Given the description of an element on the screen output the (x, y) to click on. 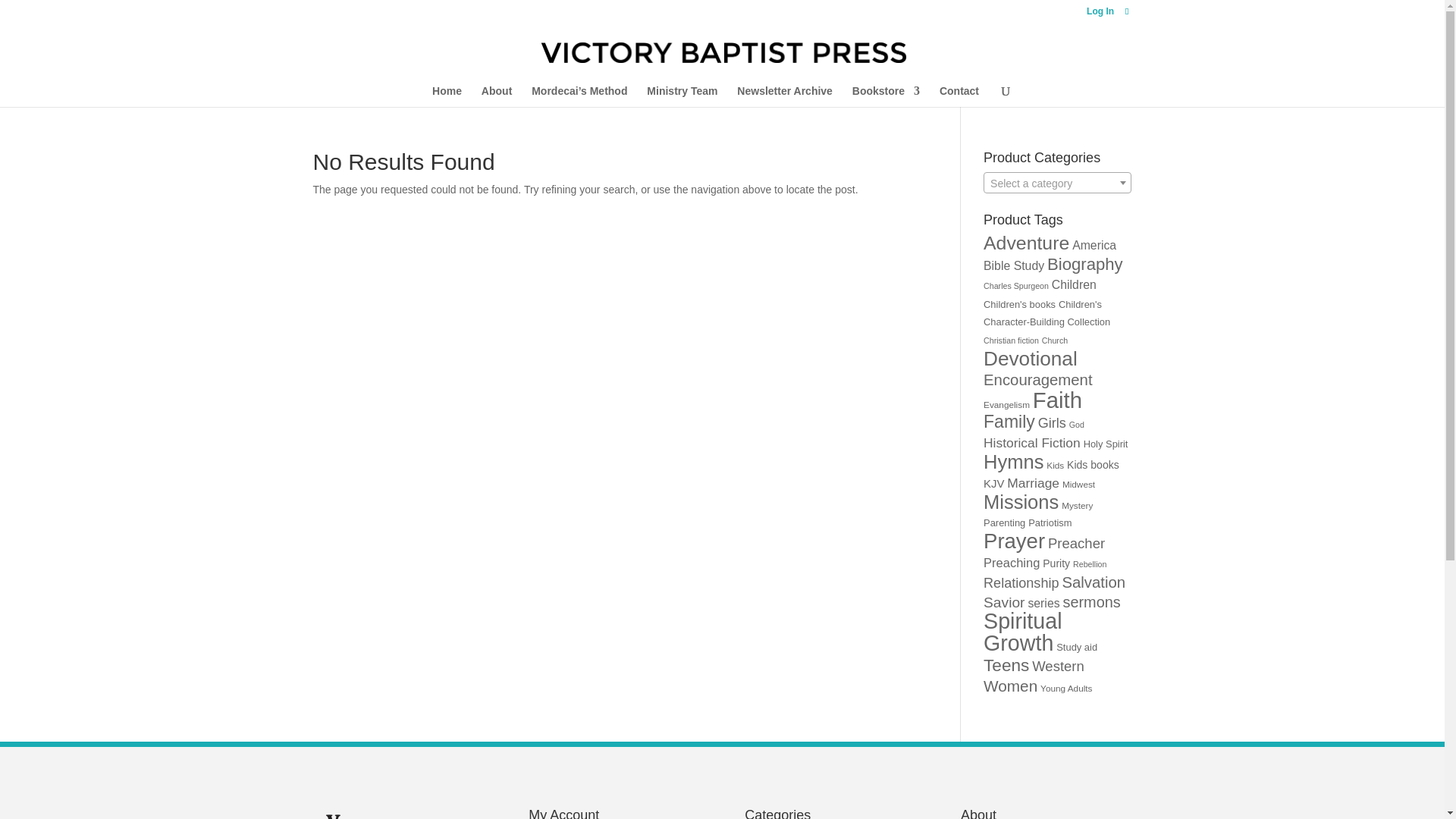
Contact (958, 96)
Newsletter Archive (784, 96)
Log In (1099, 14)
About (496, 96)
Bookstore (885, 96)
Ministry Team (681, 96)
Home (446, 96)
